Given the description of an element on the screen output the (x, y) to click on. 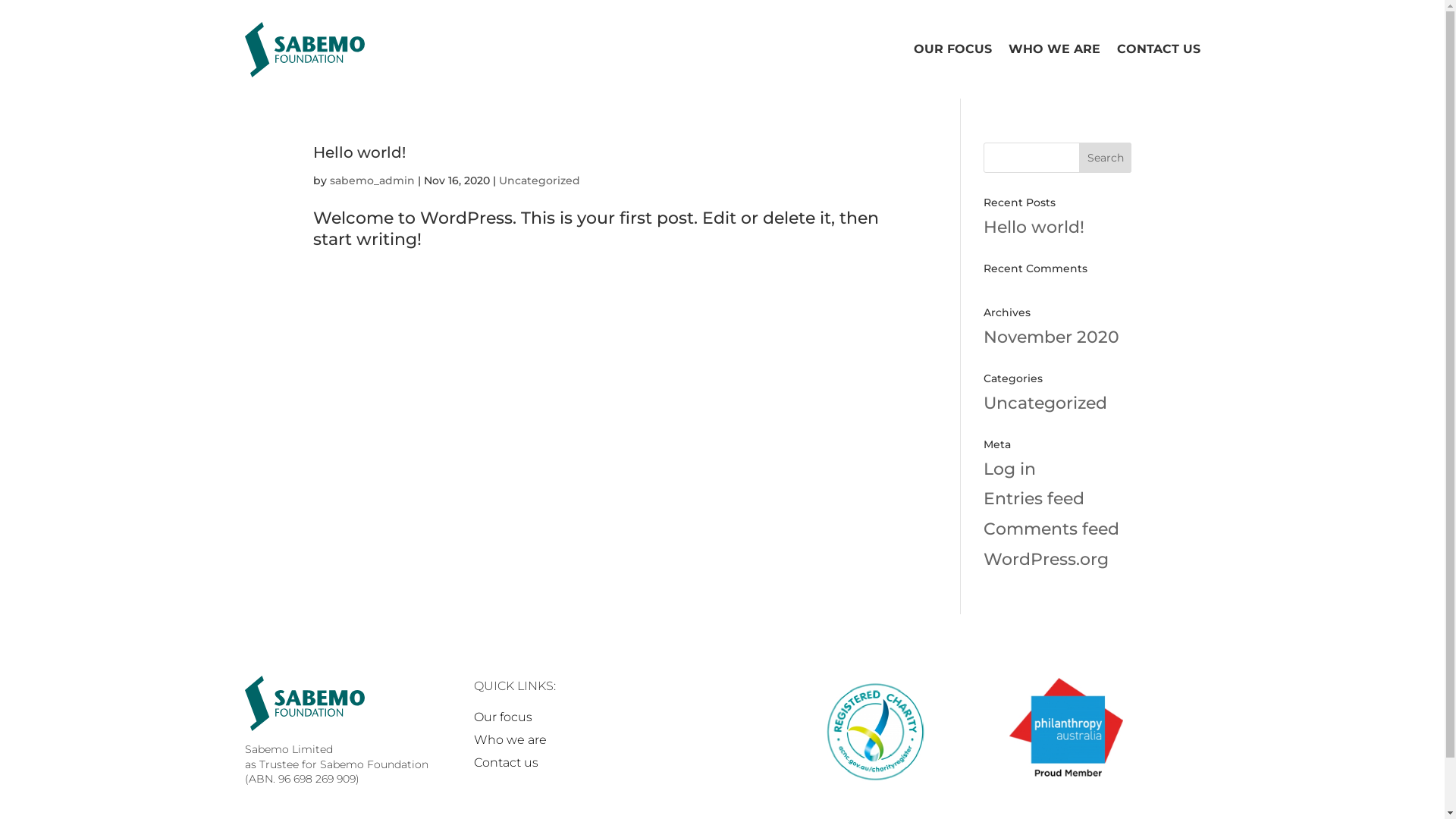
charity-logo Element type: hover (874, 732)
Sabemo-logo Element type: hover (304, 703)
Uncategorized Element type: text (1045, 402)
sabemo_admin Element type: text (371, 180)
Search Element type: text (1105, 157)
WHO WE ARE Element type: text (1054, 49)
Our focus Element type: text (502, 720)
Hello world! Element type: text (358, 152)
pa-logo Element type: hover (1065, 728)
Contact us Element type: text (505, 765)
Hello world! Element type: text (1033, 226)
CONTACT US Element type: text (1157, 49)
WordPress.org Element type: text (1045, 559)
Log in Element type: text (1009, 468)
Who we are Element type: text (509, 742)
Uncategorized Element type: text (539, 180)
OUR FOCUS Element type: text (952, 49)
Comments feed Element type: text (1051, 528)
Entries feed Element type: text (1033, 498)
November 2020 Element type: text (1051, 336)
